Given the description of an element on the screen output the (x, y) to click on. 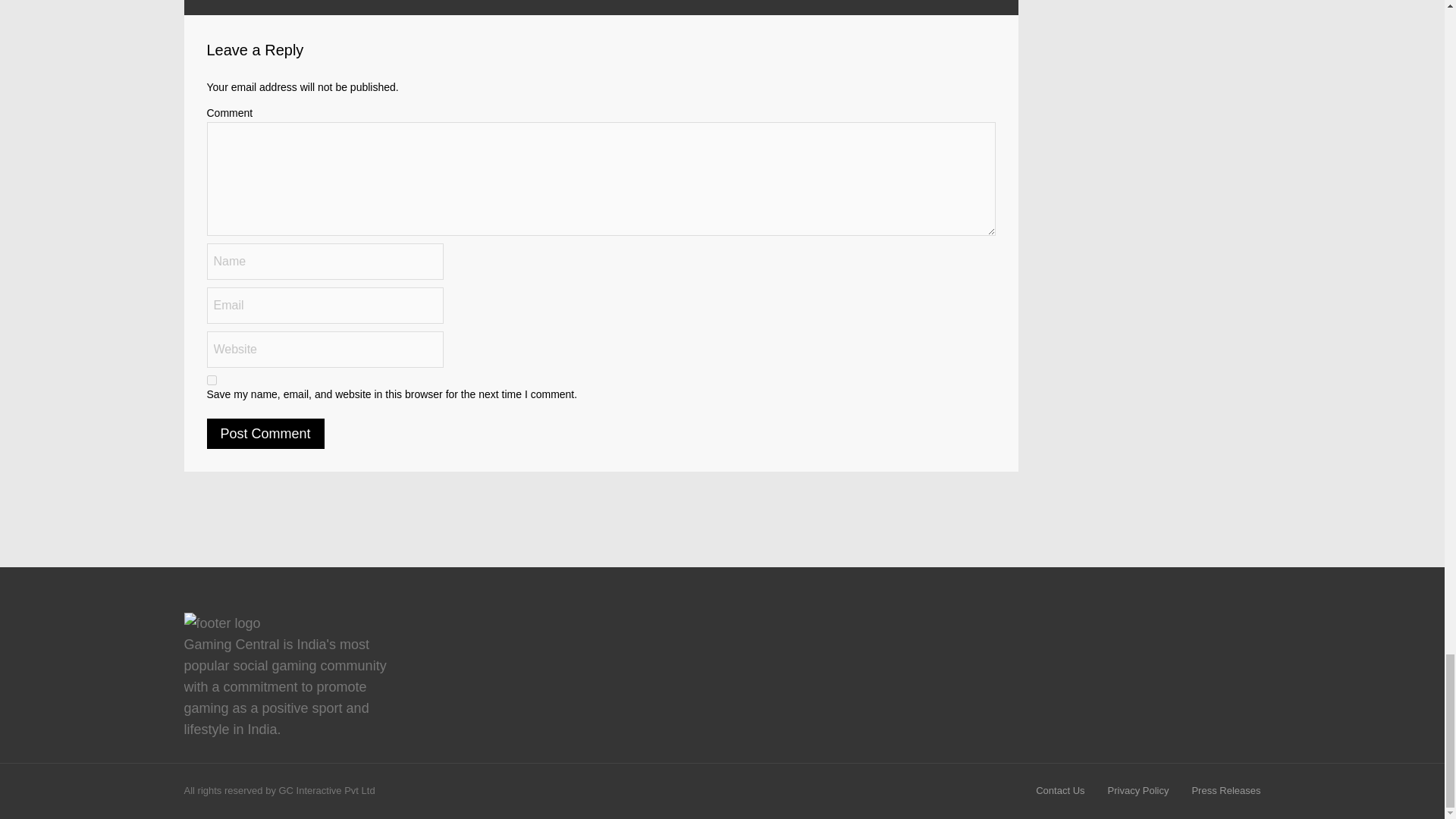
Post Comment (264, 433)
Contact Us (1059, 790)
yes (210, 379)
